Given the description of an element on the screen output the (x, y) to click on. 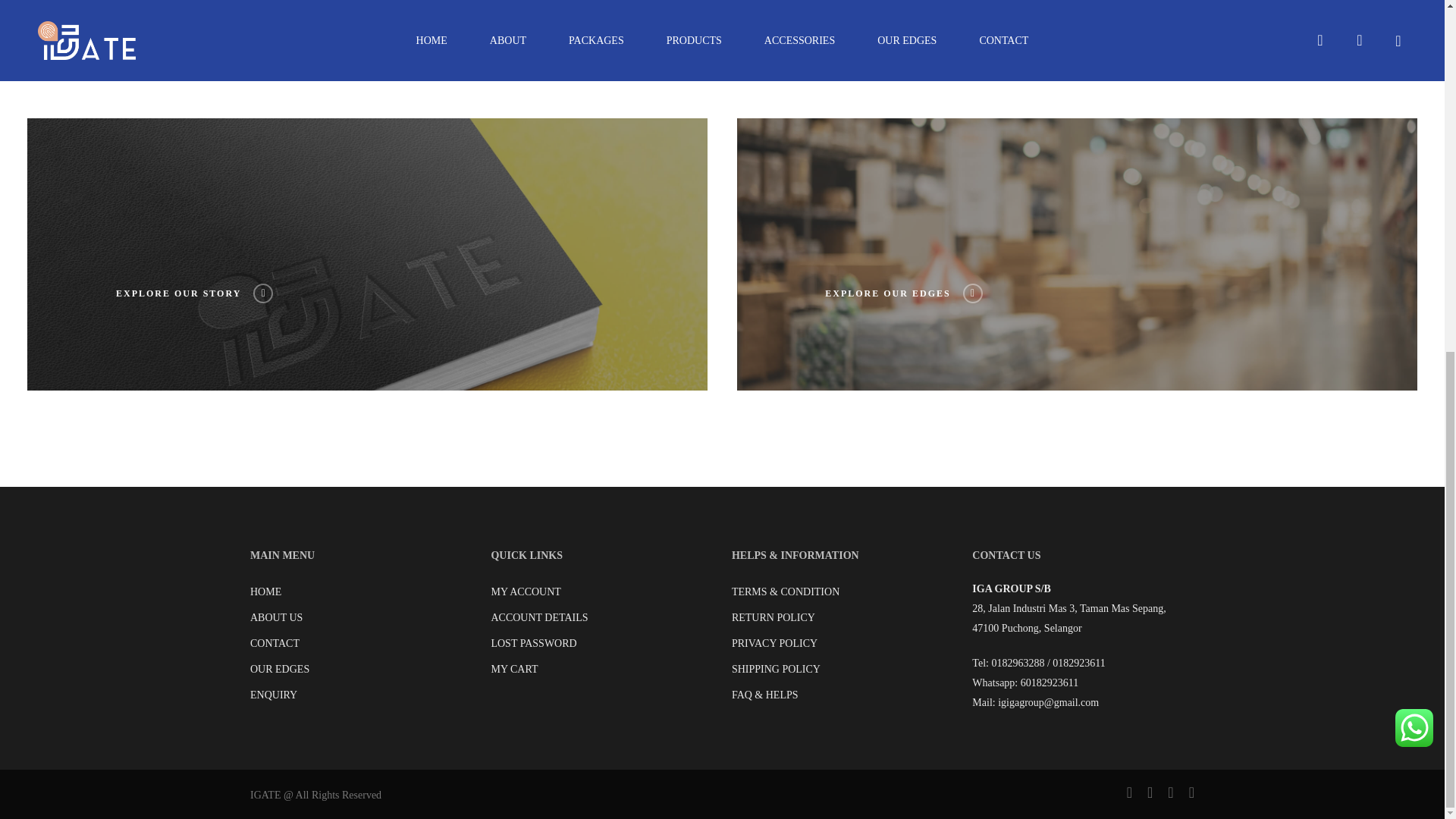
Love this (874, 19)
